Given the description of an element on the screen output the (x, y) to click on. 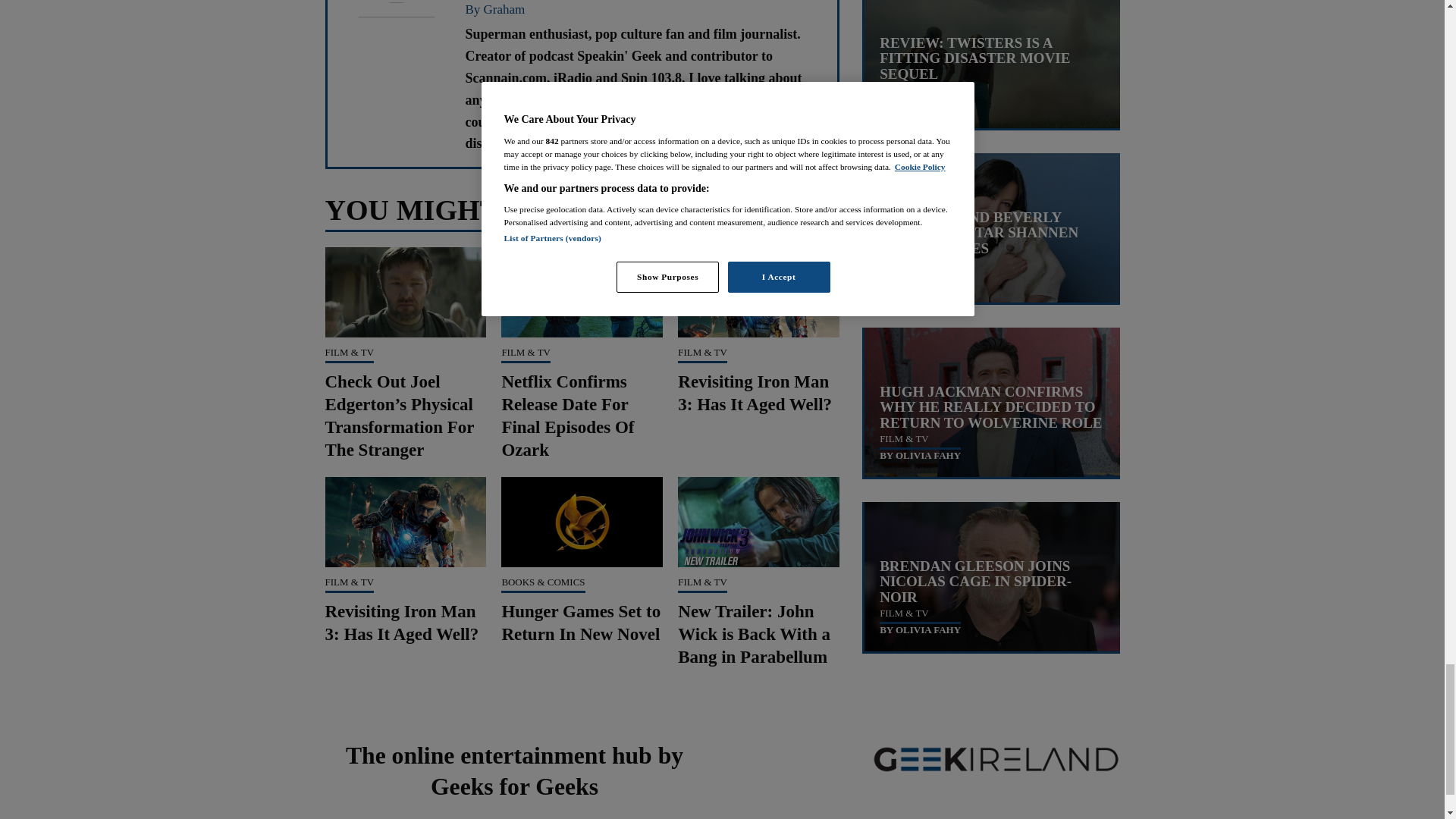
Netflix Confirms Release Date For Final Episodes Of Ozark (566, 415)
Hunger Games Set to Return In New Novel (580, 622)
Revisiting Iron Man 3: Has It Aged Well? (401, 622)
New Trailer: John Wick is Back With a Bang in Parabellum (753, 633)
Revisiting Iron Man 3: Has It Aged Well? (754, 393)
